Given the description of an element on the screen output the (x, y) to click on. 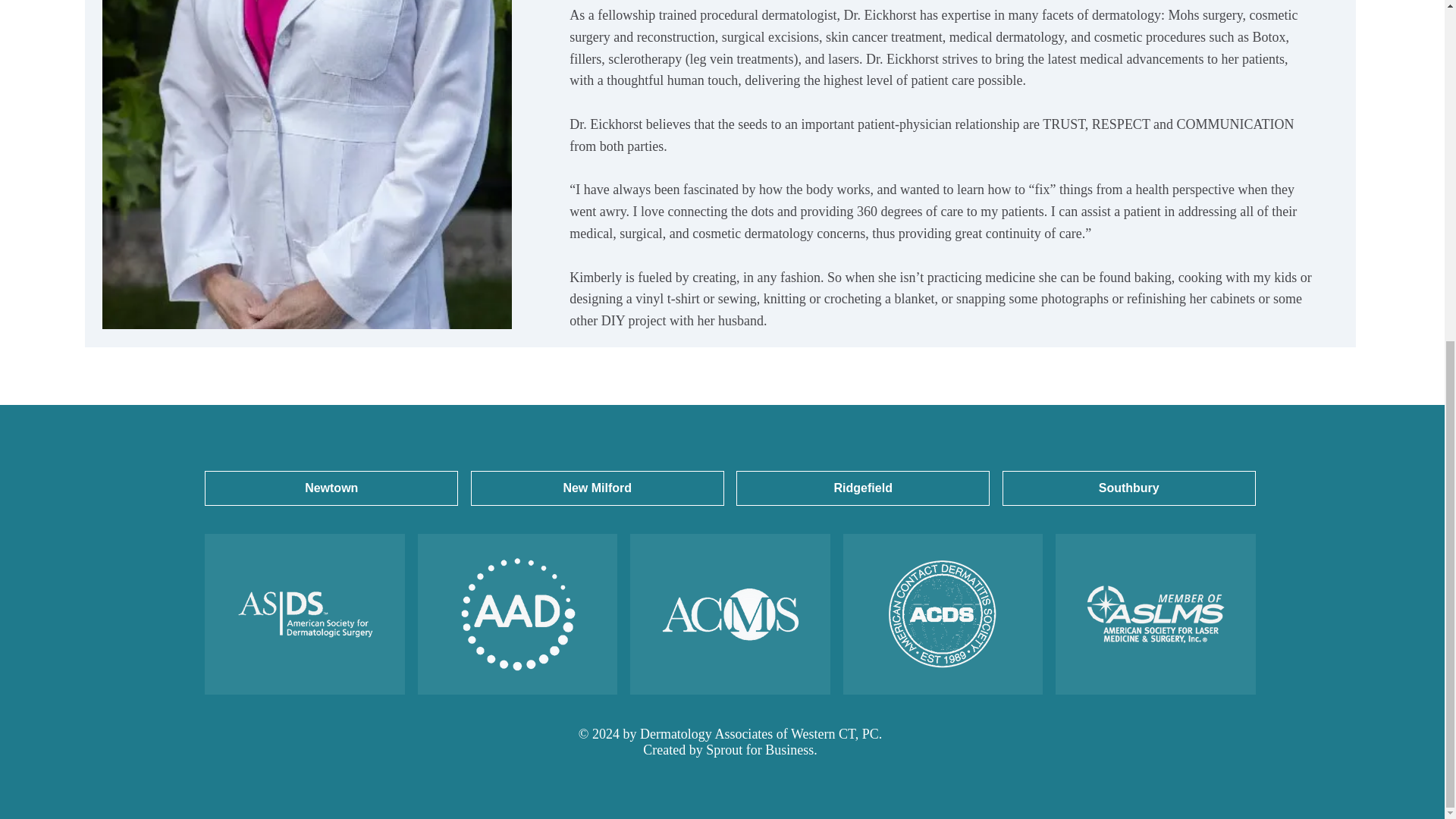
Ridgefield (863, 488)
Newtown (331, 488)
New Milford (596, 488)
Southbury (1129, 488)
